Given the description of an element on the screen output the (x, y) to click on. 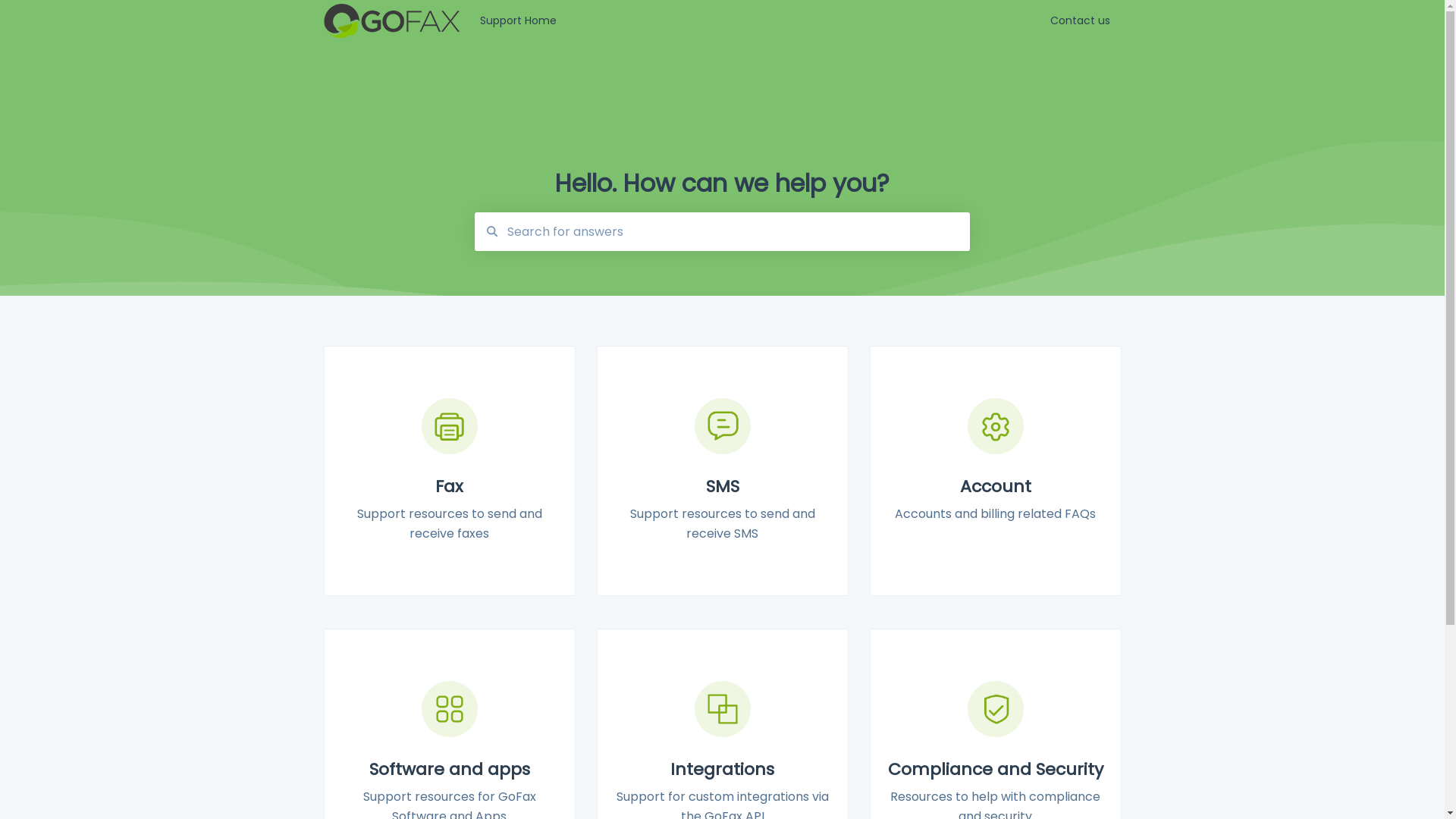
Account
Accounts and billing related FAQs Element type: text (994, 470)
Support Home Element type: text (742, 20)
Fax
Support resources to send and receive faxes Element type: text (448, 470)
SMS
Support resources to send and receive SMS Element type: text (721, 470)
